Given the description of an element on the screen output the (x, y) to click on. 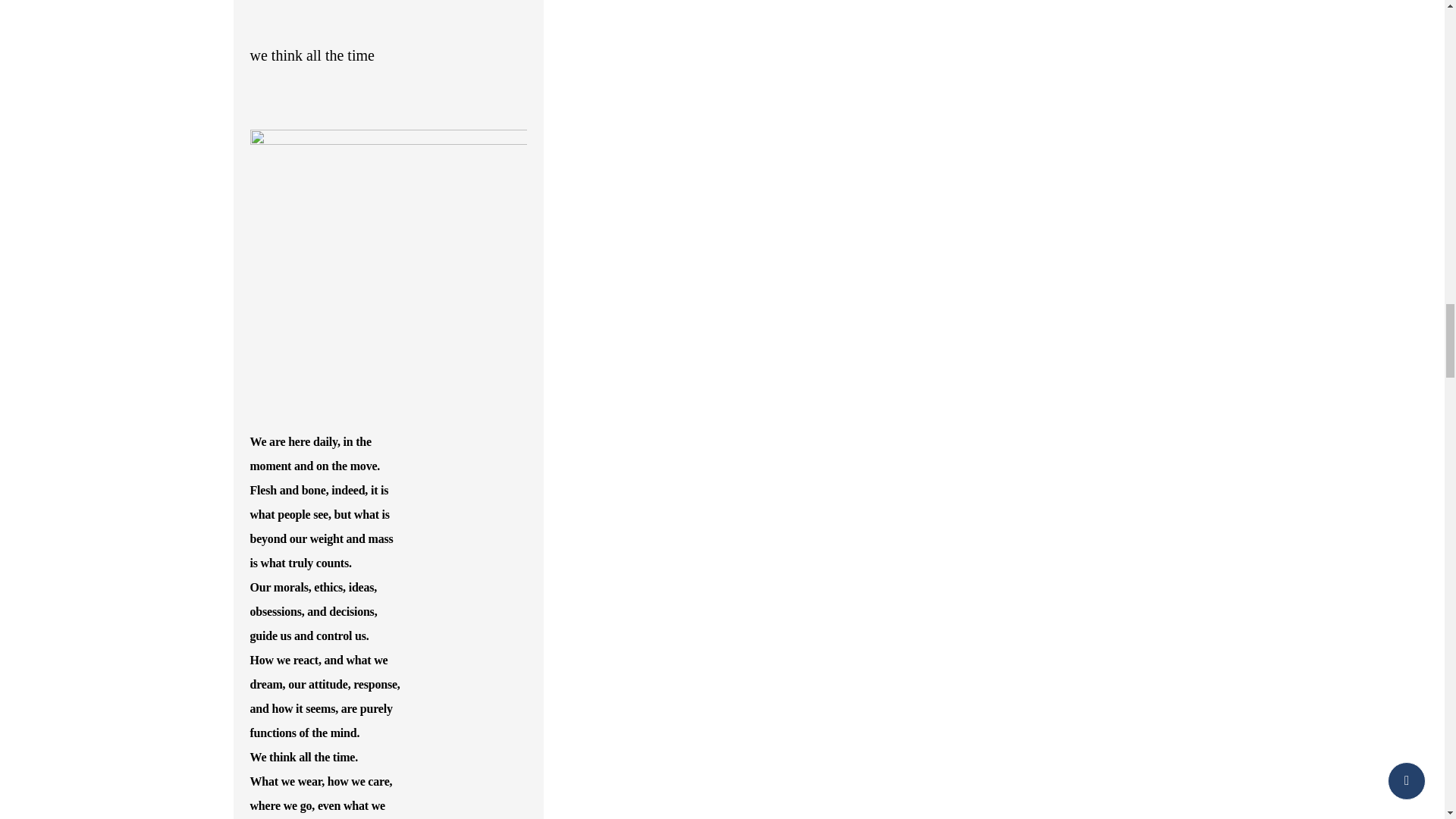
we think all the time (312, 54)
